Given the description of an element on the screen output the (x, y) to click on. 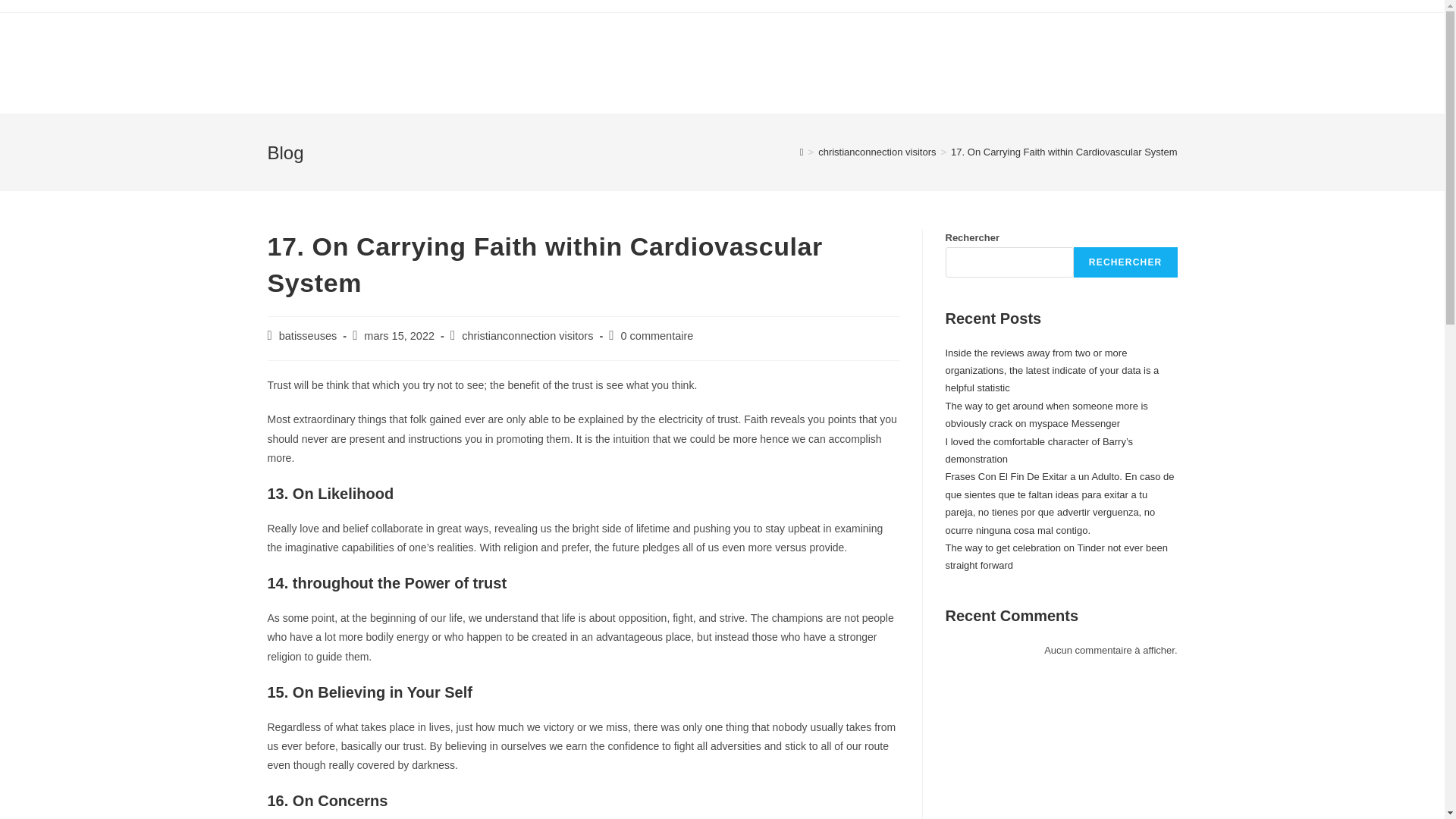
RECHERCHER (1125, 262)
christianconnection visitors (526, 336)
0 commentaire (656, 336)
Articles par batisseuses (308, 336)
batisseuses (308, 336)
17. On Carrying Faith within Cardiovascular System (1063, 152)
